Given the description of an element on the screen output the (x, y) to click on. 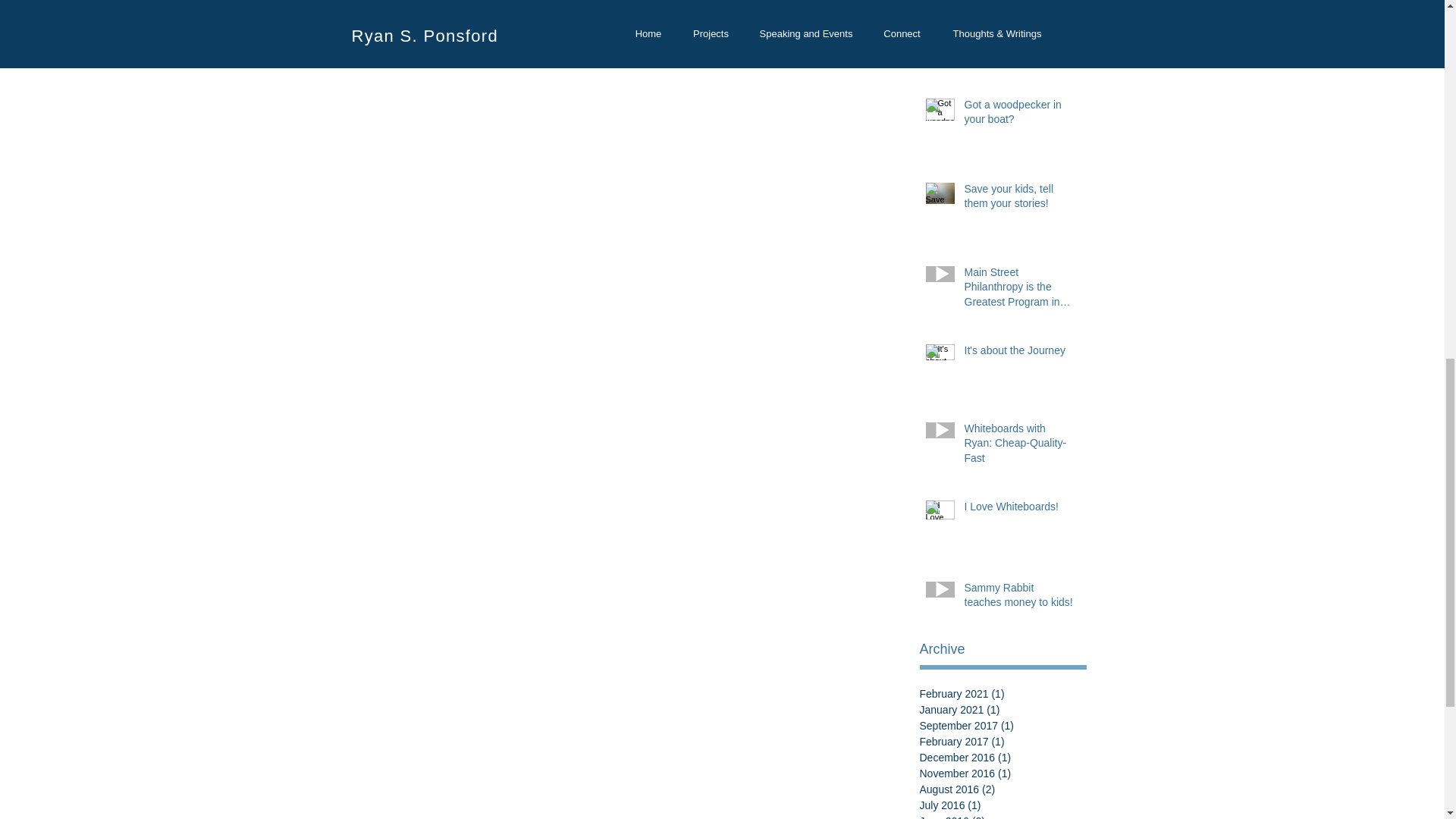
I Love Whiteboards! (1018, 509)
Mastery, Alignment, Courage, and becoming a dreamer! (1018, 44)
Save your kids, tell them your stories! (1018, 199)
It's about the Journey (1018, 353)
Sammy Rabbit teaches money to kids! (1018, 598)
Got a woodpecker in your boat? (1018, 115)
Whiteboards with Ryan: Cheap-Quality-Fast (1018, 446)
